Given the description of an element on the screen output the (x, y) to click on. 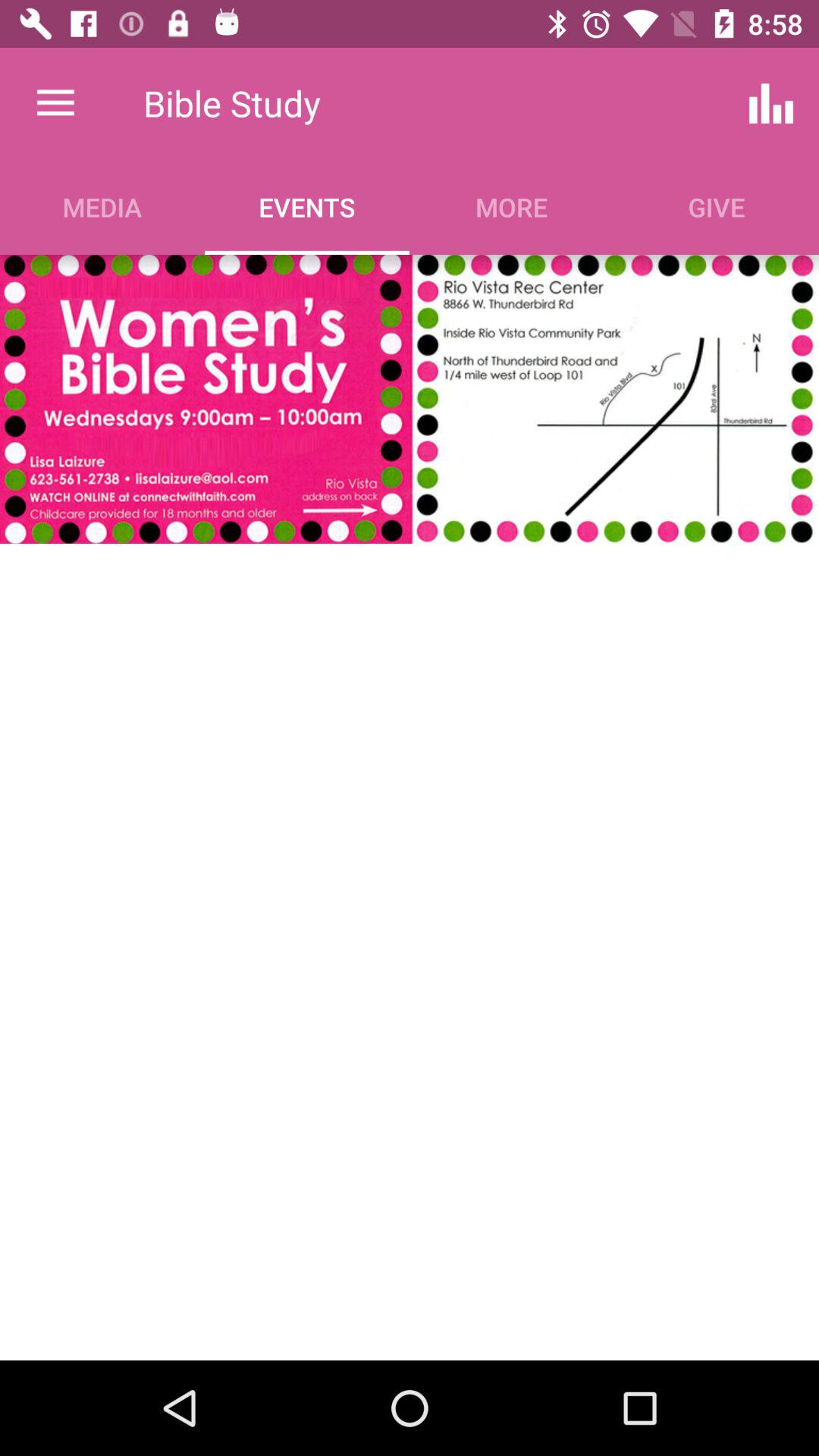
open the icon above media (55, 103)
